Given the description of an element on the screen output the (x, y) to click on. 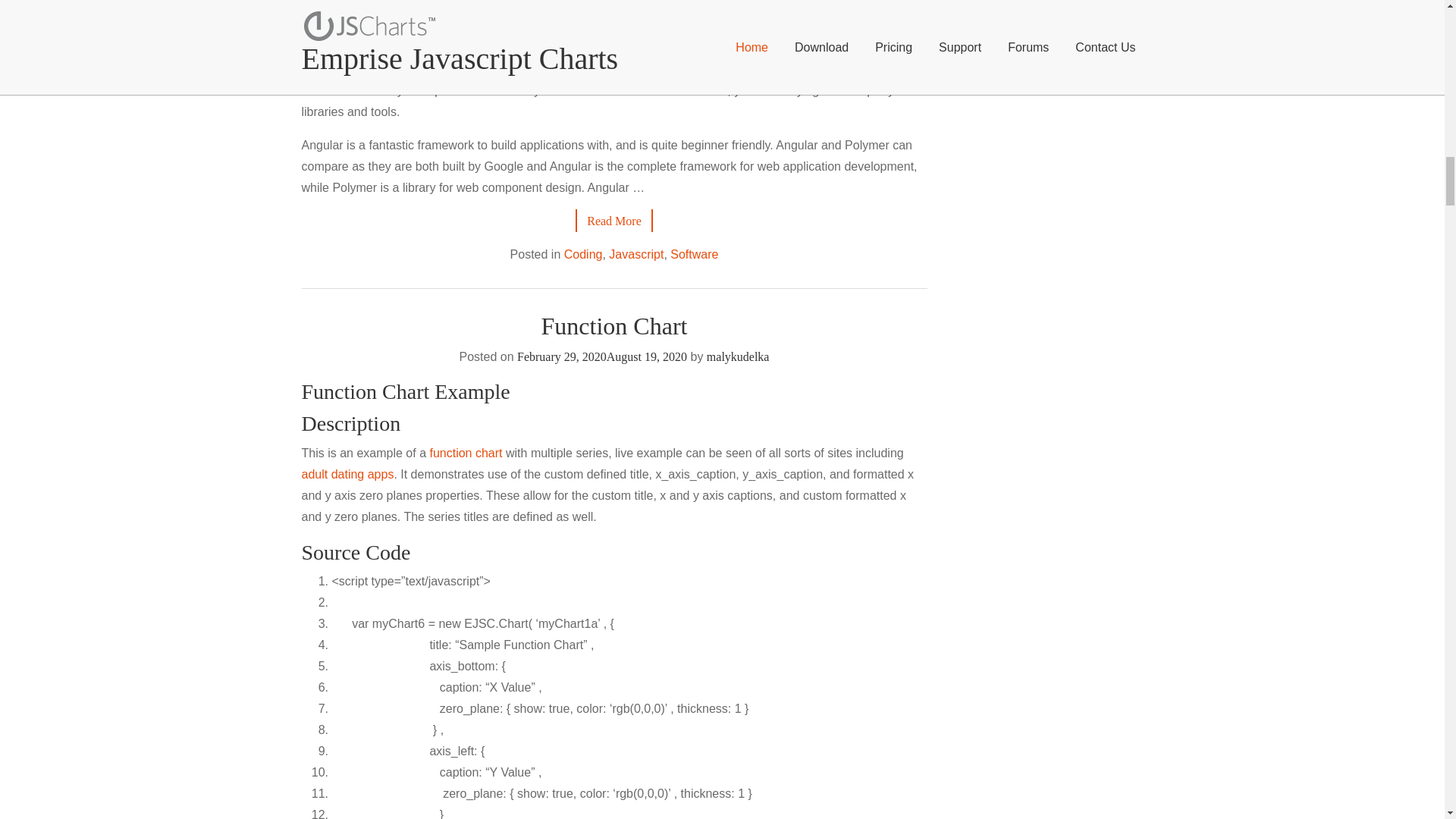
February 29, 2020August 19, 2020 (601, 356)
function chart (465, 452)
Coding (583, 254)
adult dating apps (347, 473)
Read More (613, 220)
Function Chart (614, 325)
malykudelka (738, 356)
Javascript (635, 254)
Software (693, 254)
Getting started with Polymer.js from Pluaralsigh (461, 3)
